Given the description of an element on the screen output the (x, y) to click on. 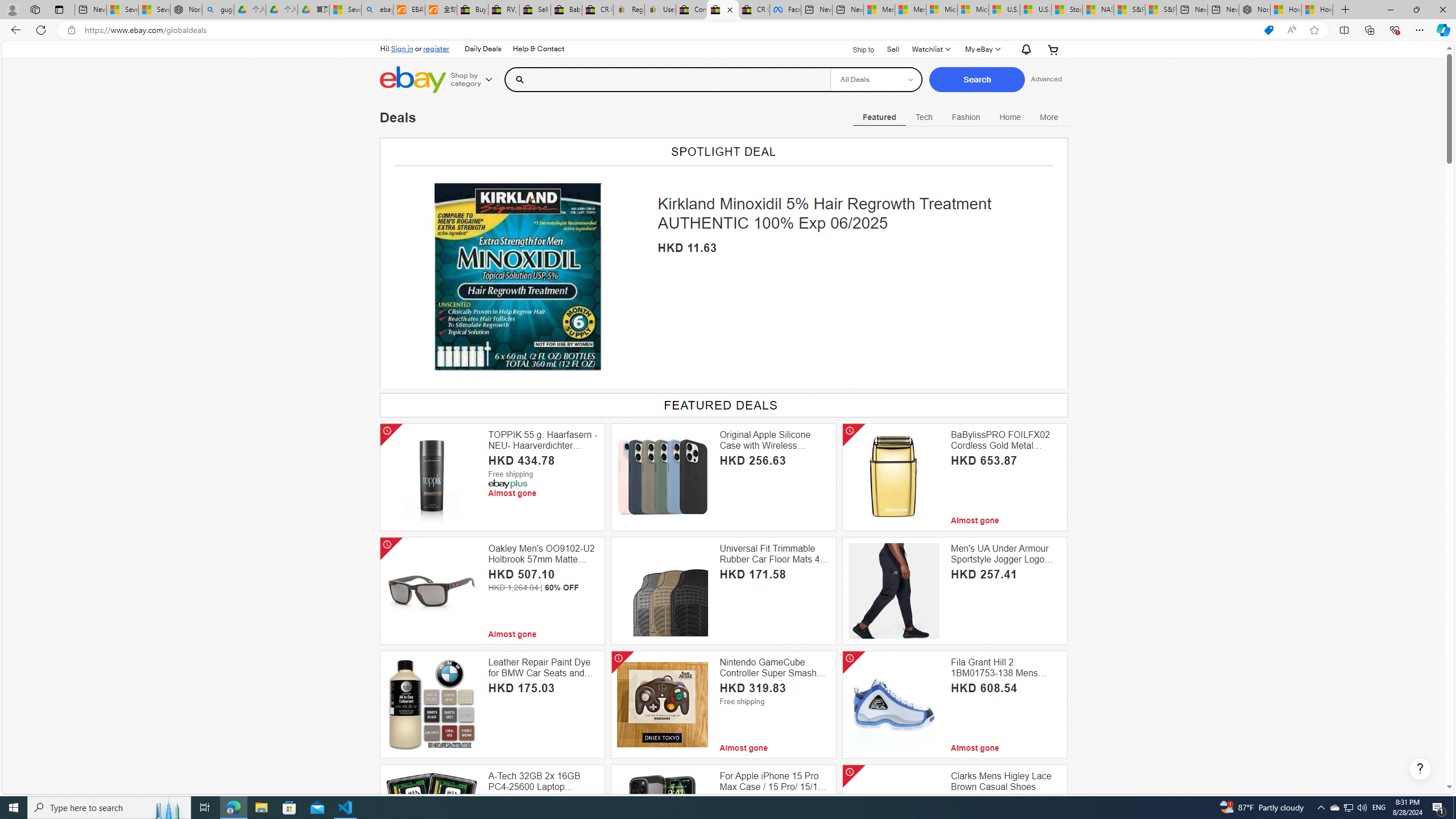
Featured Current View (879, 116)
Sell (893, 48)
Class: ebayui-refit-nav-ul (960, 115)
register (435, 48)
Daily Deals (482, 49)
Search for anything (667, 78)
